Given the description of an element on the screen output the (x, y) to click on. 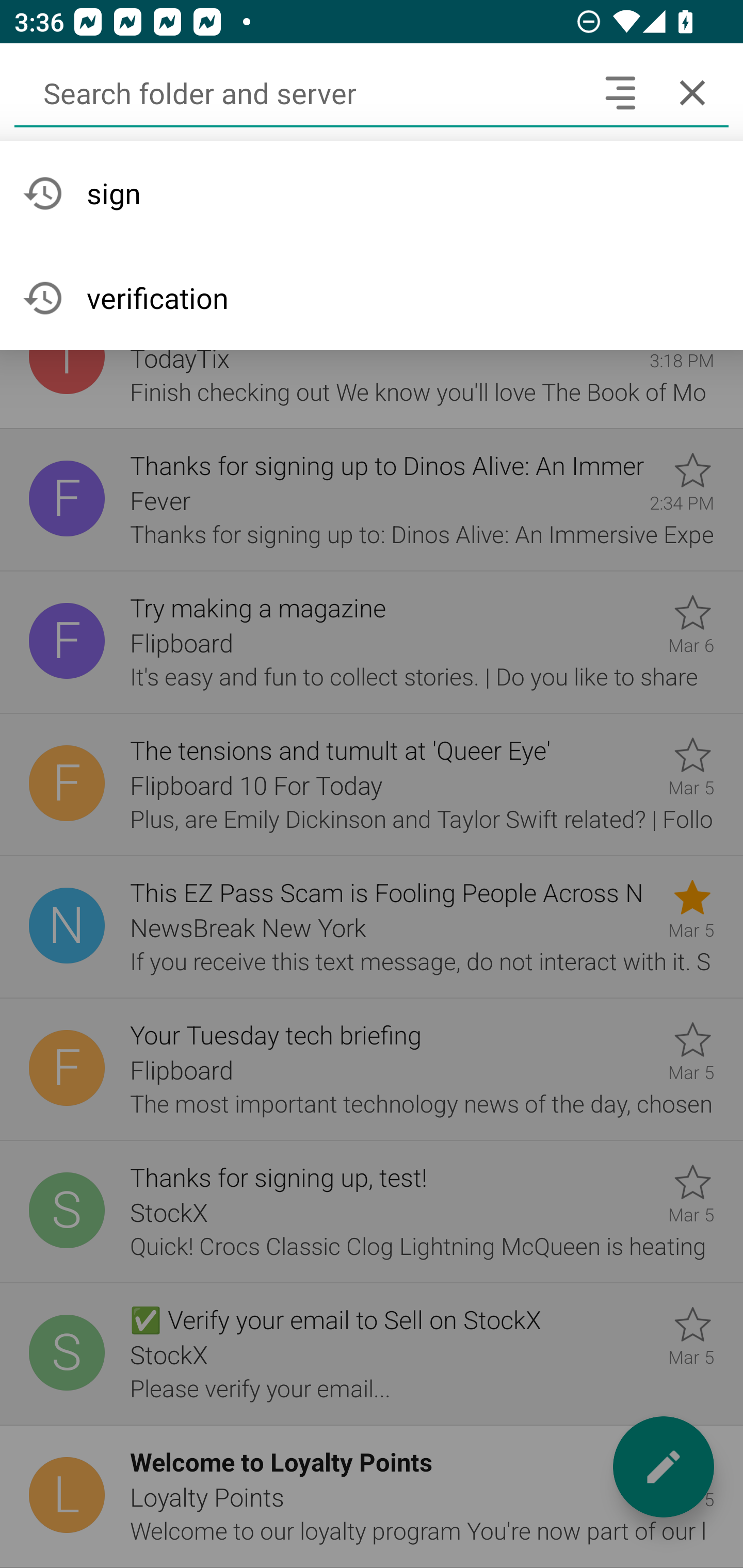
   Search folder and server (298, 92)
Search headers and text (619, 92)
Cancel (692, 92)
